Given the description of an element on the screen output the (x, y) to click on. 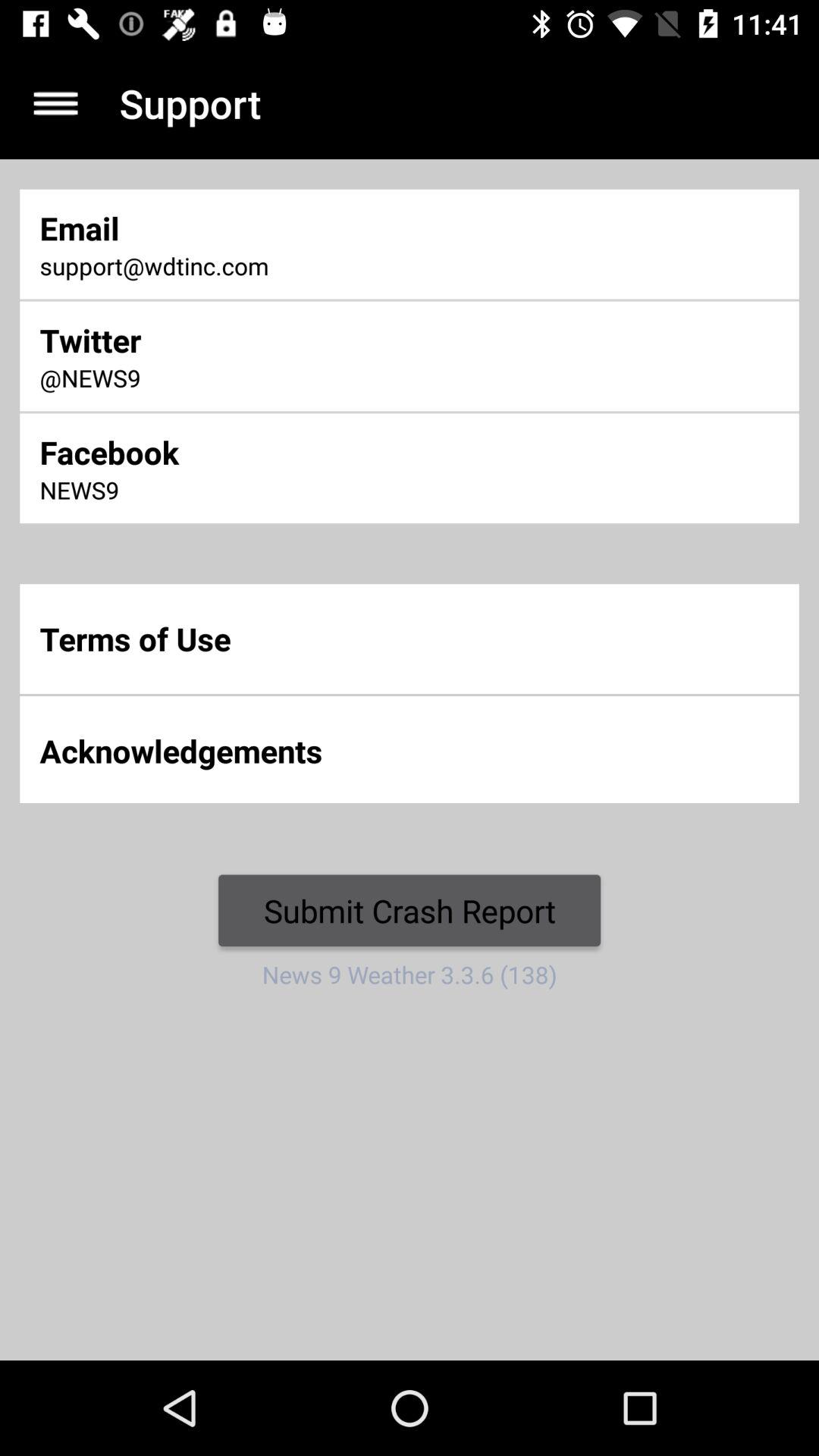
turn on twitter (272, 339)
